Given the description of an element on the screen output the (x, y) to click on. 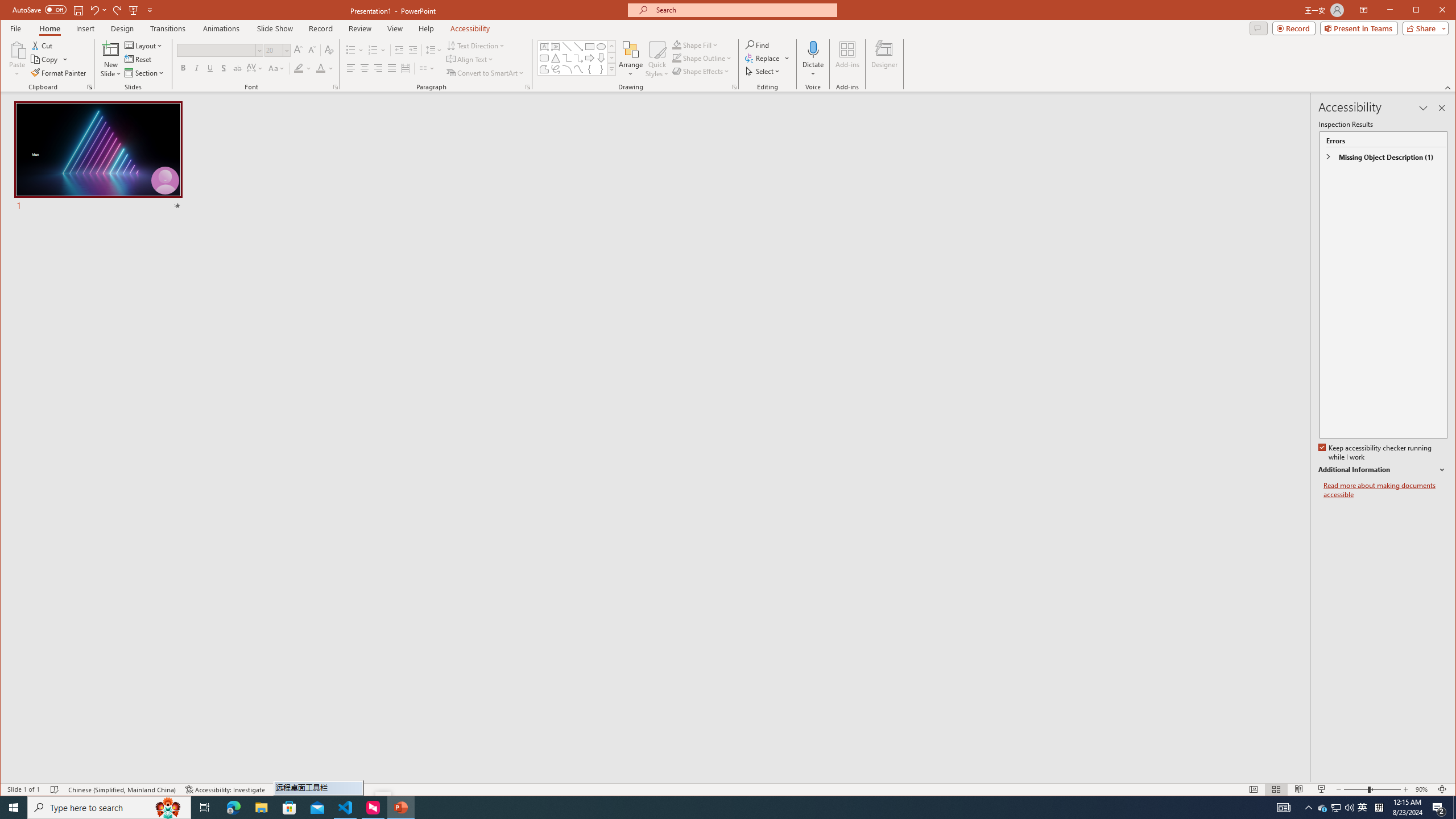
Zoom 90% (1422, 789)
